Given the description of an element on the screen output the (x, y) to click on. 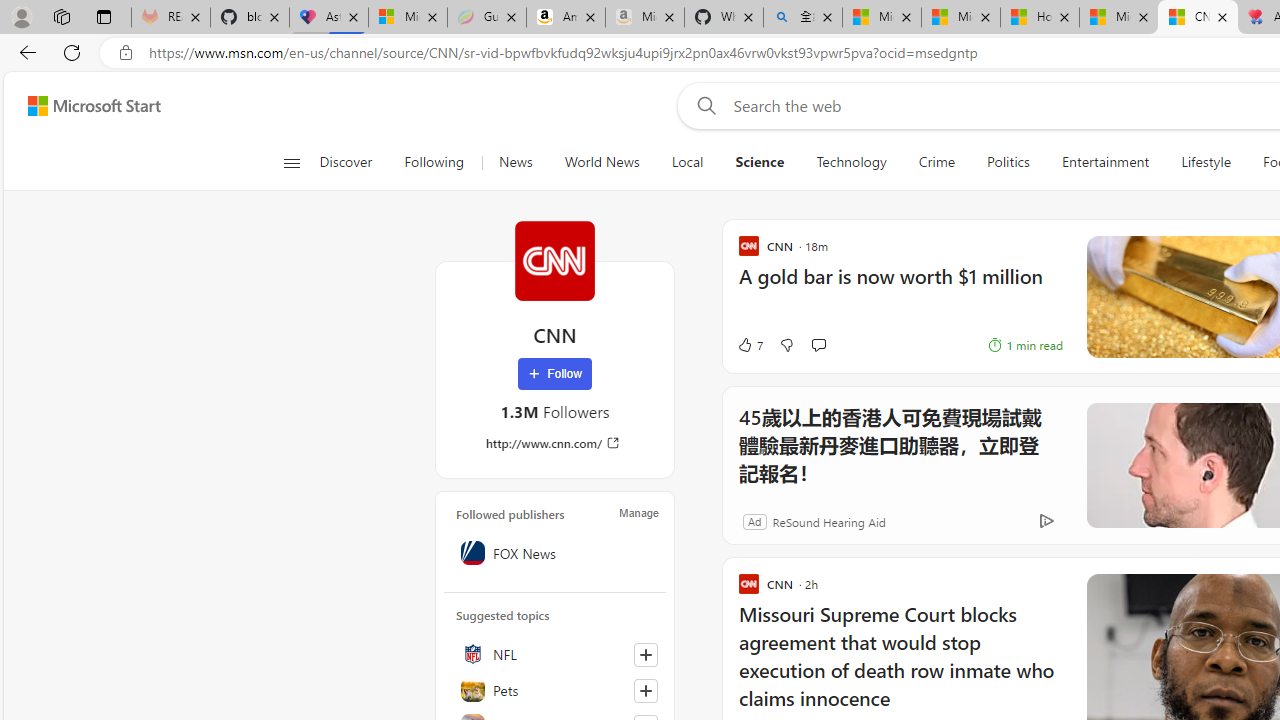
Open navigation menu (291, 162)
ReSound Hearing Aid (828, 520)
A gold bar is now worth $1 million (900, 286)
